Given the description of an element on the screen output the (x, y) to click on. 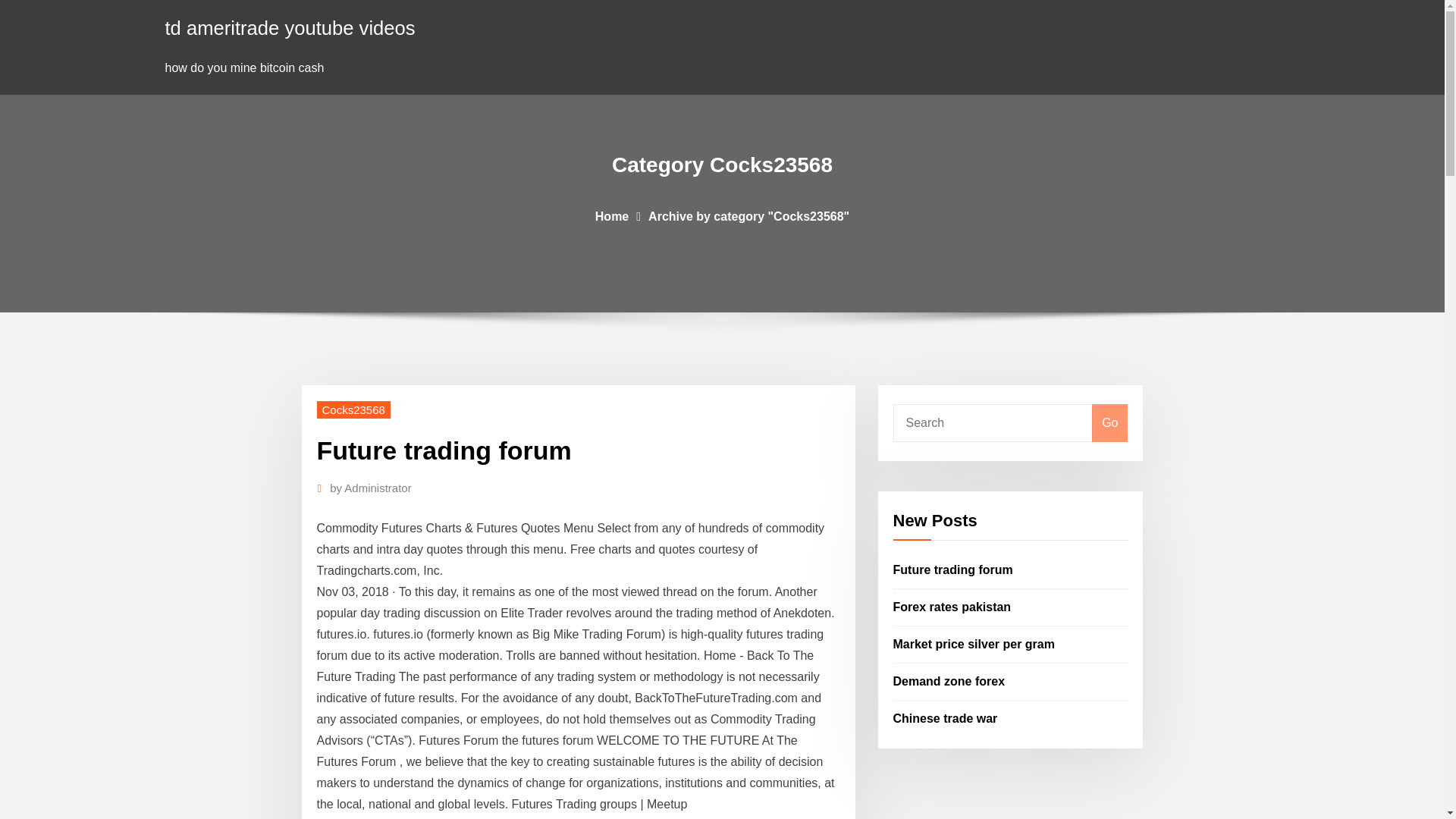
by Administrator (371, 487)
Forex rates pakistan (952, 606)
Future trading forum (953, 569)
Archive by category "Cocks23568" (747, 215)
Go (1109, 423)
Chinese trade war (945, 717)
Home (611, 215)
td ameritrade youtube videos (289, 27)
Demand zone forex (949, 680)
Cocks23568 (353, 409)
